Given the description of an element on the screen output the (x, y) to click on. 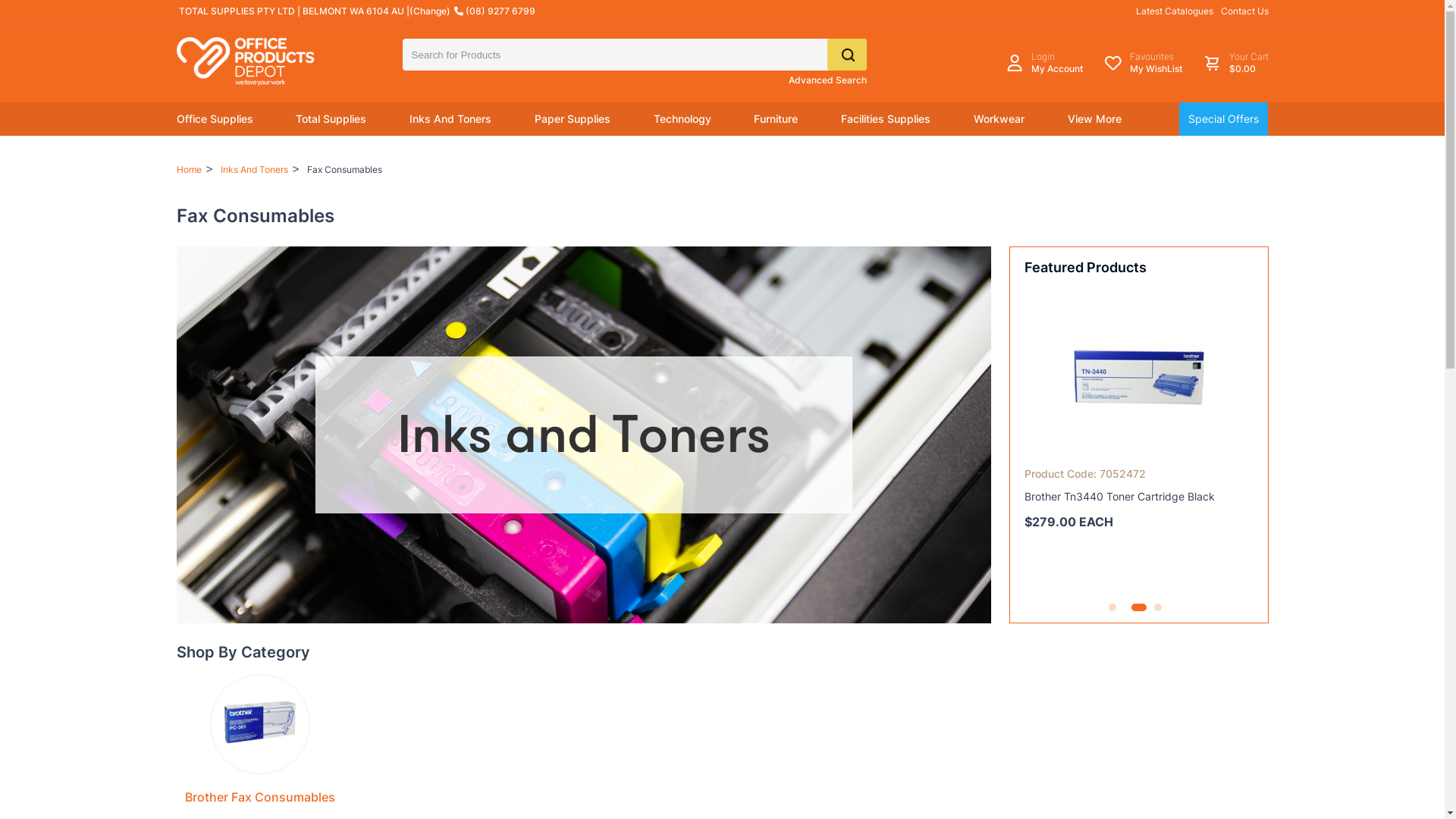
Contact Us Element type: text (1244, 10)
Home Element type: text (187, 169)
Latest Catalogues Element type: text (1174, 10)
3 Element type: text (1157, 607)
Login
My
Account Element type: text (1043, 62)
(08) 9277 6799 Element type: text (493, 11)
Inks And Toners Element type: text (254, 169)
BROTHER TN3440 TONER CARTRIDGE BLACK Element type: hover (1138, 376)
Technology Element type: text (682, 118)
Workwear Element type: text (998, 118)
Inks And Toners Element type: text (450, 118)
Office Supplies Element type: text (213, 118)
Furniture Element type: text (775, 118)
Special Offers Element type: text (1223, 118)
Advanced Search Element type: text (827, 79)
Paper Supplies Element type: text (572, 118)
Favourites
My
WishList Element type: text (1143, 62)
View More Element type: text (1094, 118)
(Change) Element type: text (429, 11)
Total Supplies Element type: text (330, 118)
Your Cart
$0.00 Element type: text (1234, 62)
2 Element type: text (1135, 607)
Brother Fax Consumables Element type: text (260, 796)
Search Element type: hover (846, 54)
1 Element type: text (1112, 607)
Facilities Supplies Element type: text (885, 118)
Brother Tn2450 Toner Cartridge Element type: text (1103, 495)
Office Products Depot Element type: hover (258, 61)
